Given the description of an element on the screen output the (x, y) to click on. 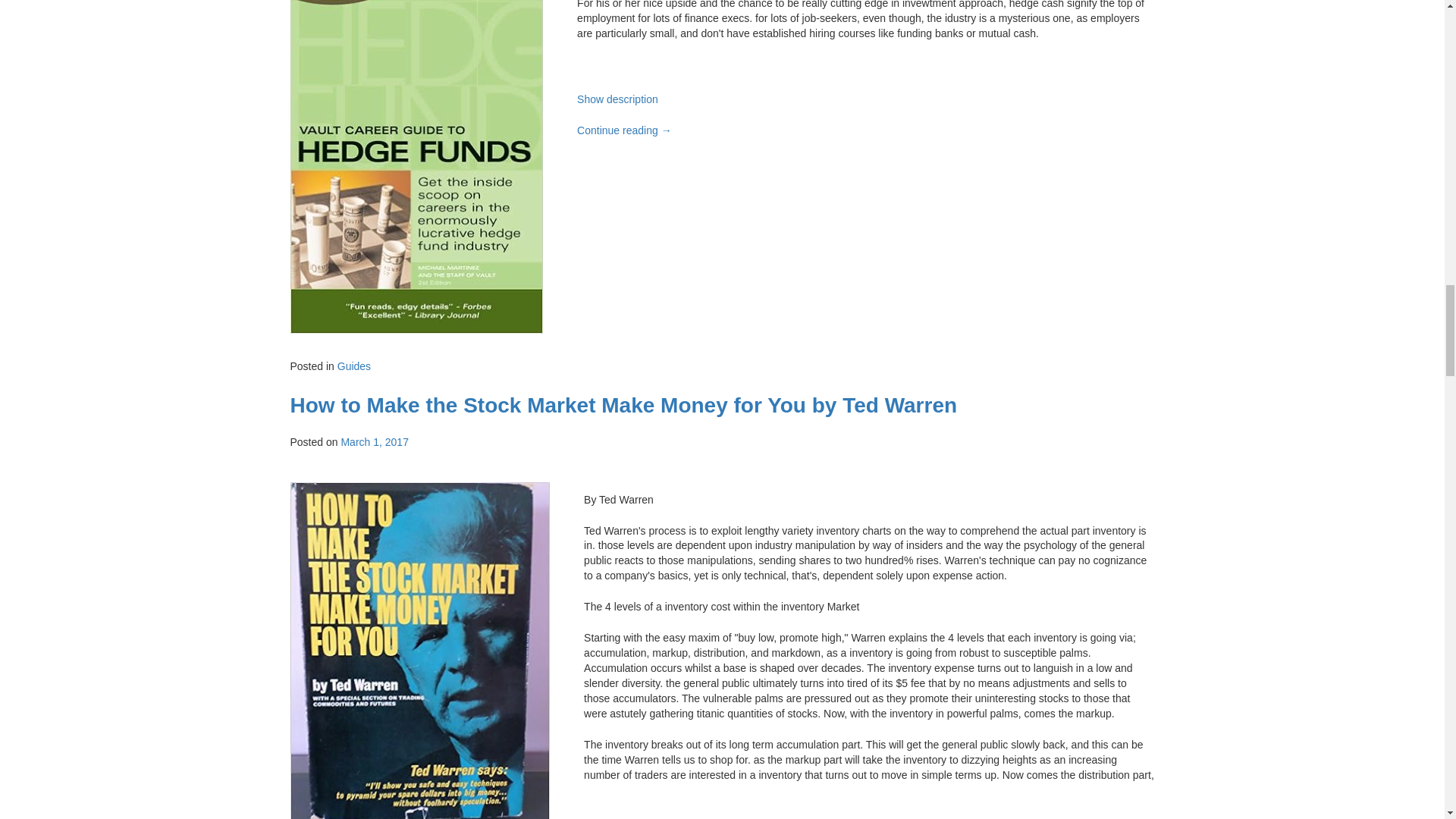
Show description (617, 99)
Guides (354, 366)
March 1, 2017 (374, 441)
